Given the description of an element on the screen output the (x, y) to click on. 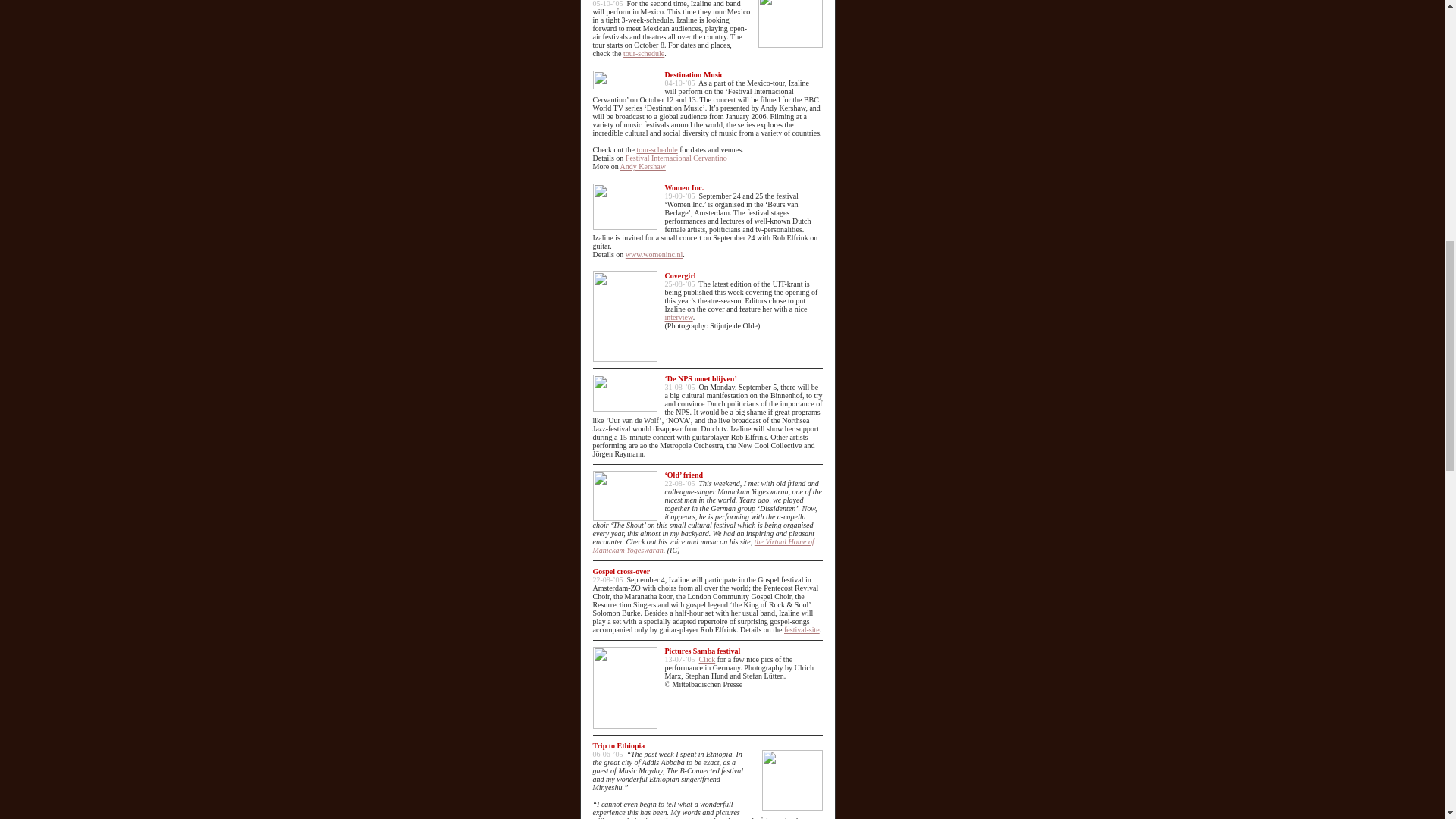
Andy Kershaw (642, 166)
tour-schedule (643, 53)
Festival Internacional Cervantino (676, 157)
tour-schedule (657, 149)
